Given the description of an element on the screen output the (x, y) to click on. 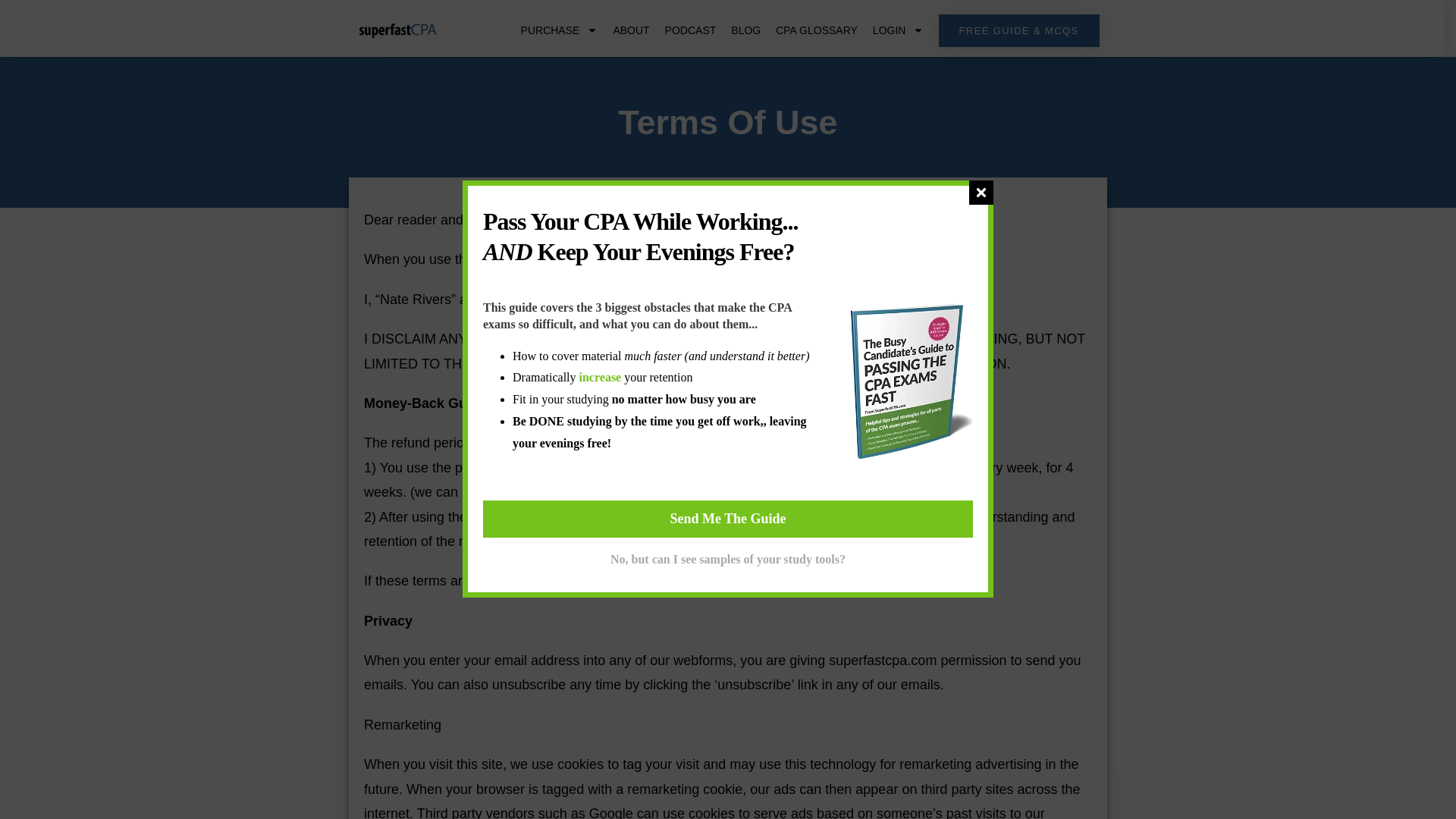
ABOUT (630, 30)
Close (980, 192)
PURCHASE (559, 30)
CPA GLOSSARY (816, 30)
LOGIN (898, 30)
No, but can I see samples of your study tools? (727, 559)
PODCAST (690, 30)
Send Me The Guide (727, 518)
